Given the description of an element on the screen output the (x, y) to click on. 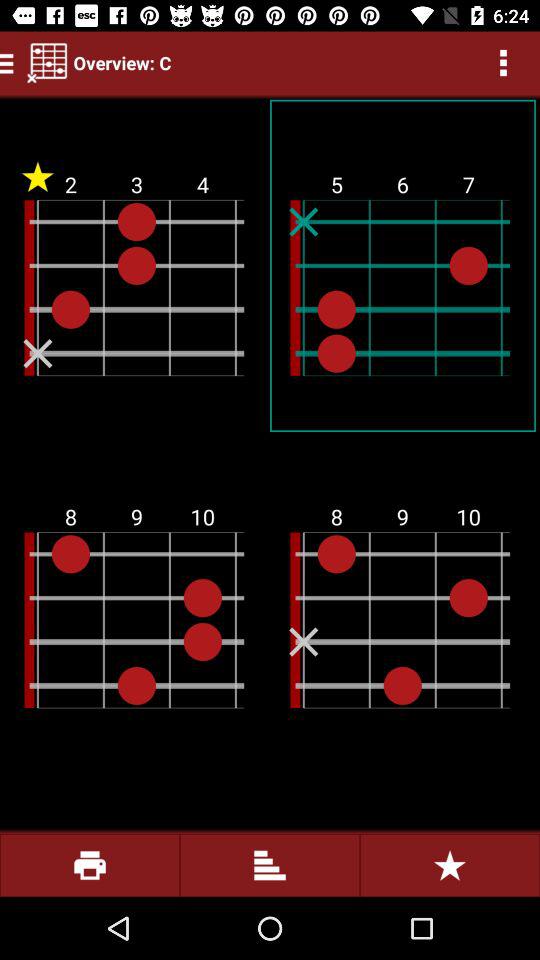
select the item to the left of the overview: c icon (47, 62)
